Given the description of an element on the screen output the (x, y) to click on. 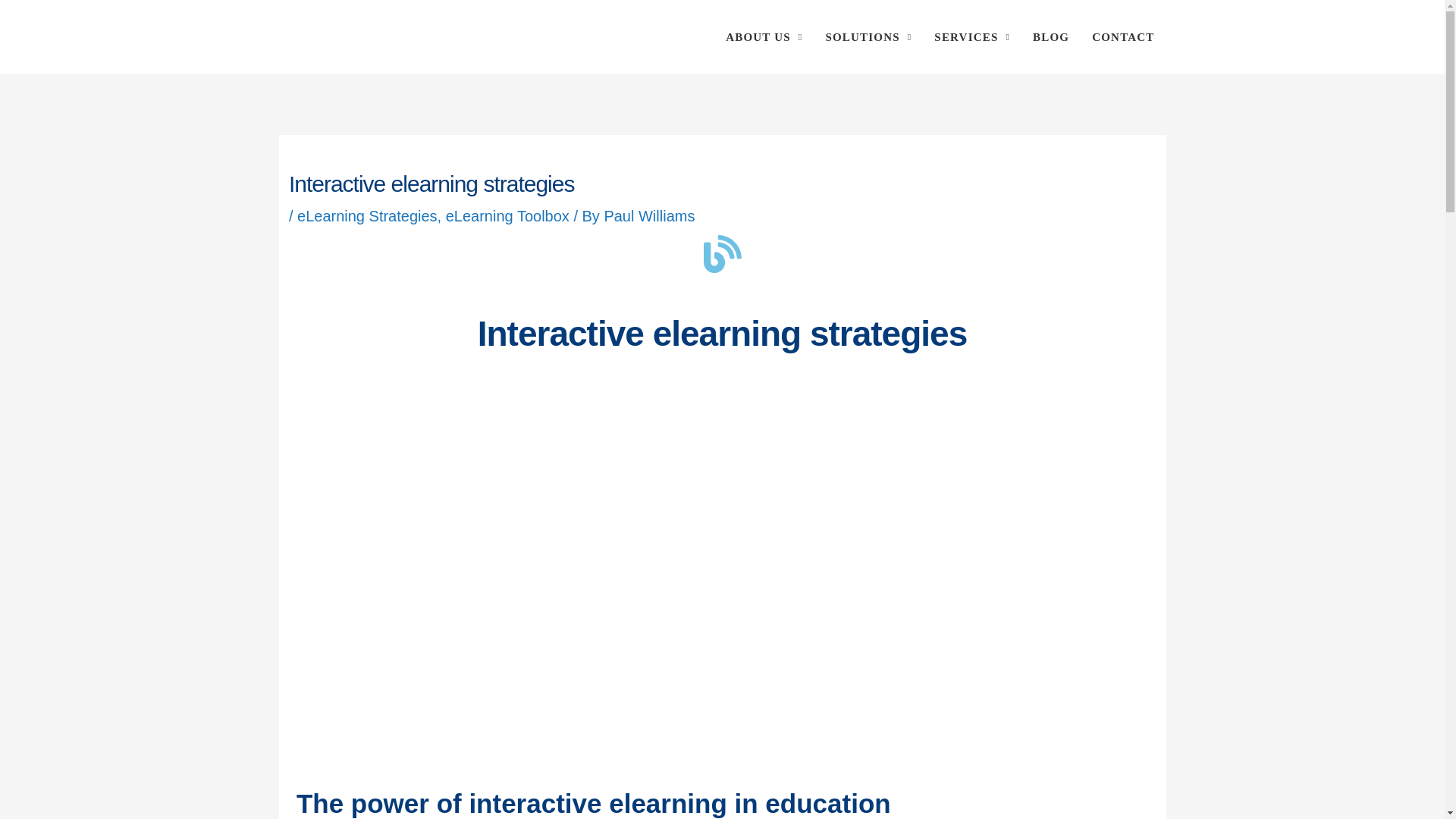
CONTACT (1123, 37)
ABOUT US (763, 37)
SERVICES (972, 37)
SOLUTIONS (868, 37)
View all posts by Paul Williams (649, 216)
